Given the description of an element on the screen output the (x, y) to click on. 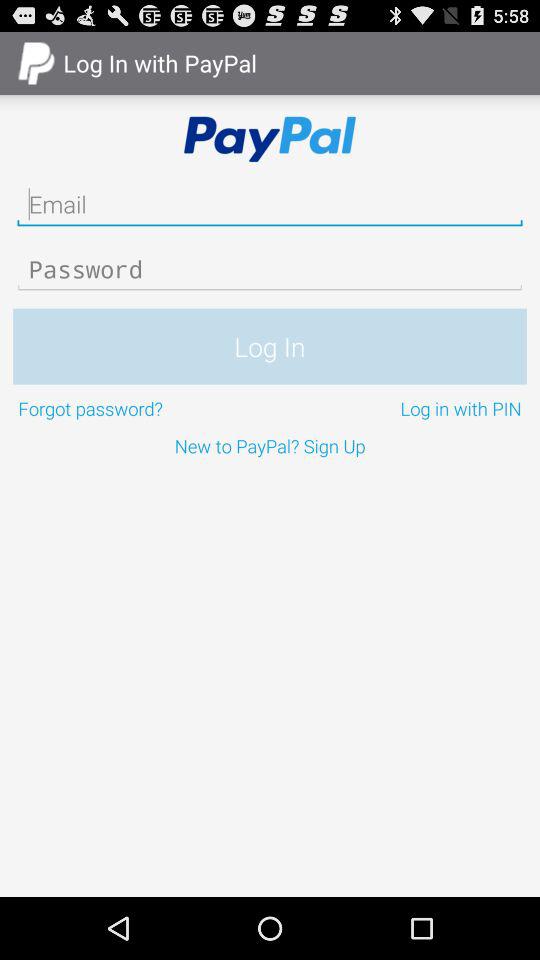
scroll until the forgot password? icon (141, 408)
